Given the description of an element on the screen output the (x, y) to click on. 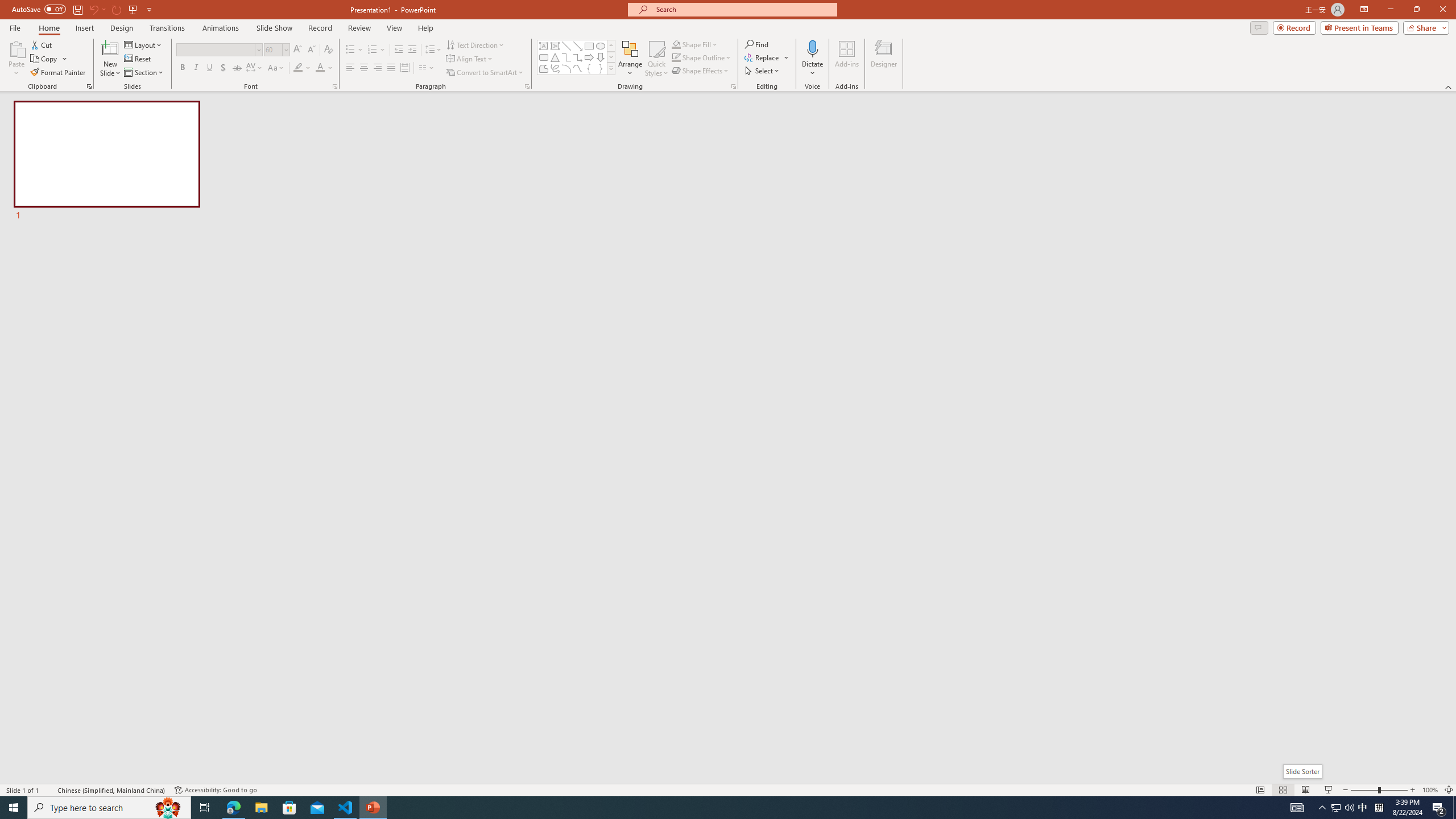
Select (762, 69)
Format Object... (733, 85)
Replace... (767, 56)
Row up (611, 45)
Character Spacing (254, 67)
AutomationID: ShapesInsertGallery (576, 57)
Review (359, 28)
Design (122, 28)
Arrange (630, 58)
New Slide (110, 48)
Distributed (404, 67)
Center (363, 67)
Comments (1259, 27)
